Given the description of an element on the screen output the (x, y) to click on. 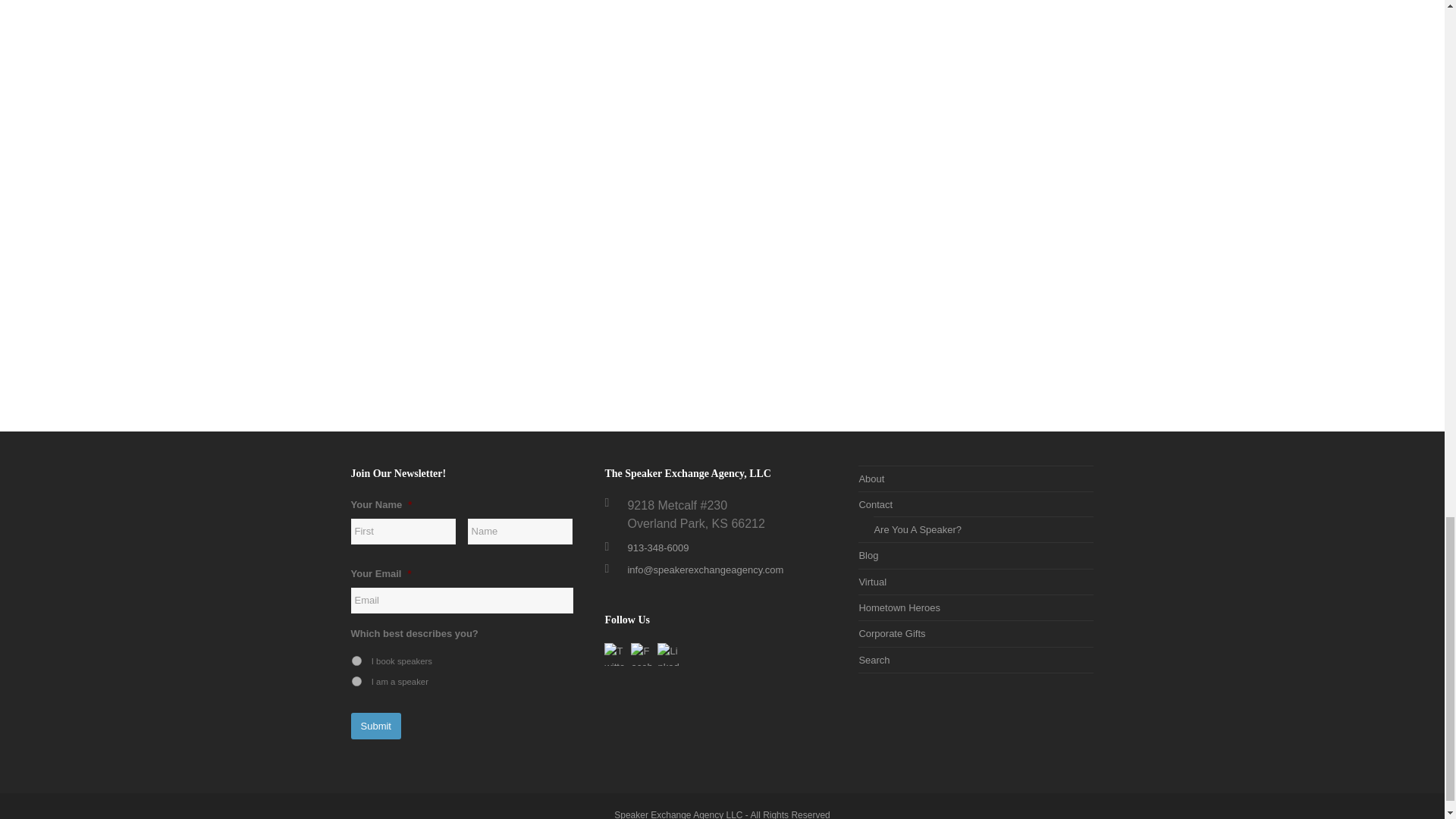
I am a speaker (356, 681)
I book speakers (356, 660)
Twitter (615, 653)
Submit (375, 725)
Facebook (641, 653)
